Given the description of an element on the screen output the (x, y) to click on. 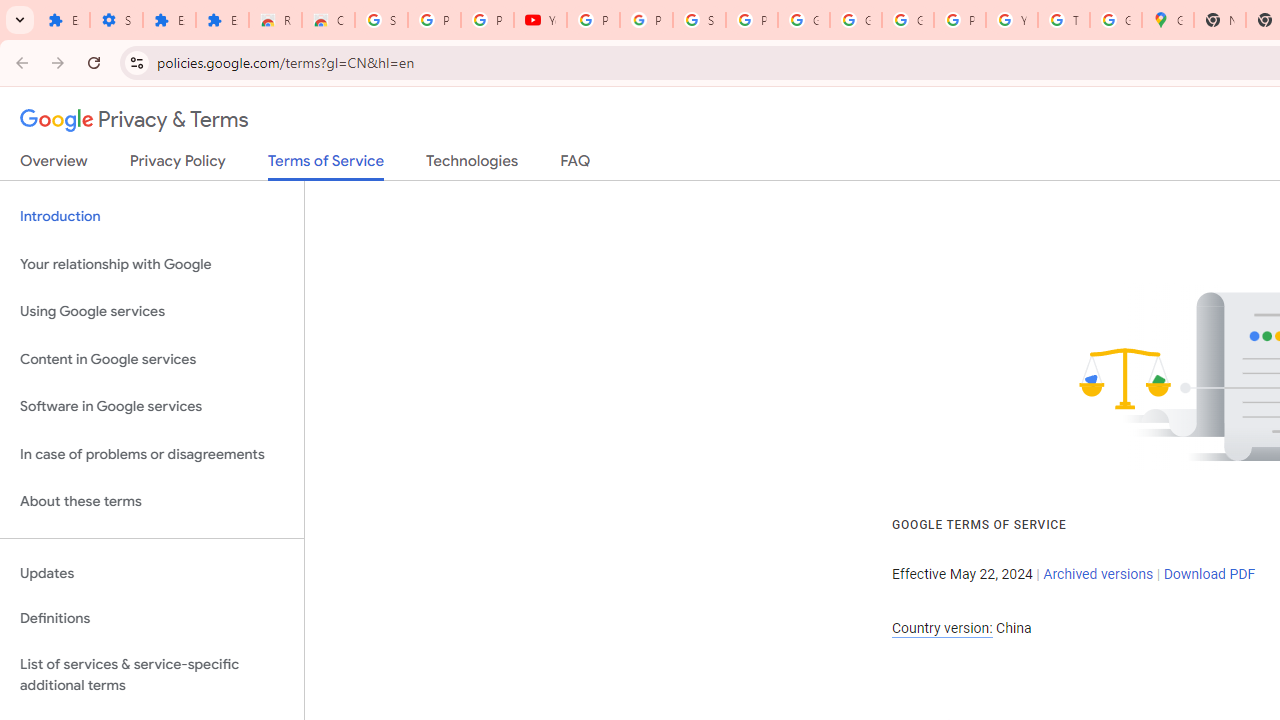
Sign in - Google Accounts (699, 20)
YouTube (540, 20)
Sign in - Google Accounts (381, 20)
Google Maps (1167, 20)
Extensions (169, 20)
